Given the description of an element on the screen output the (x, y) to click on. 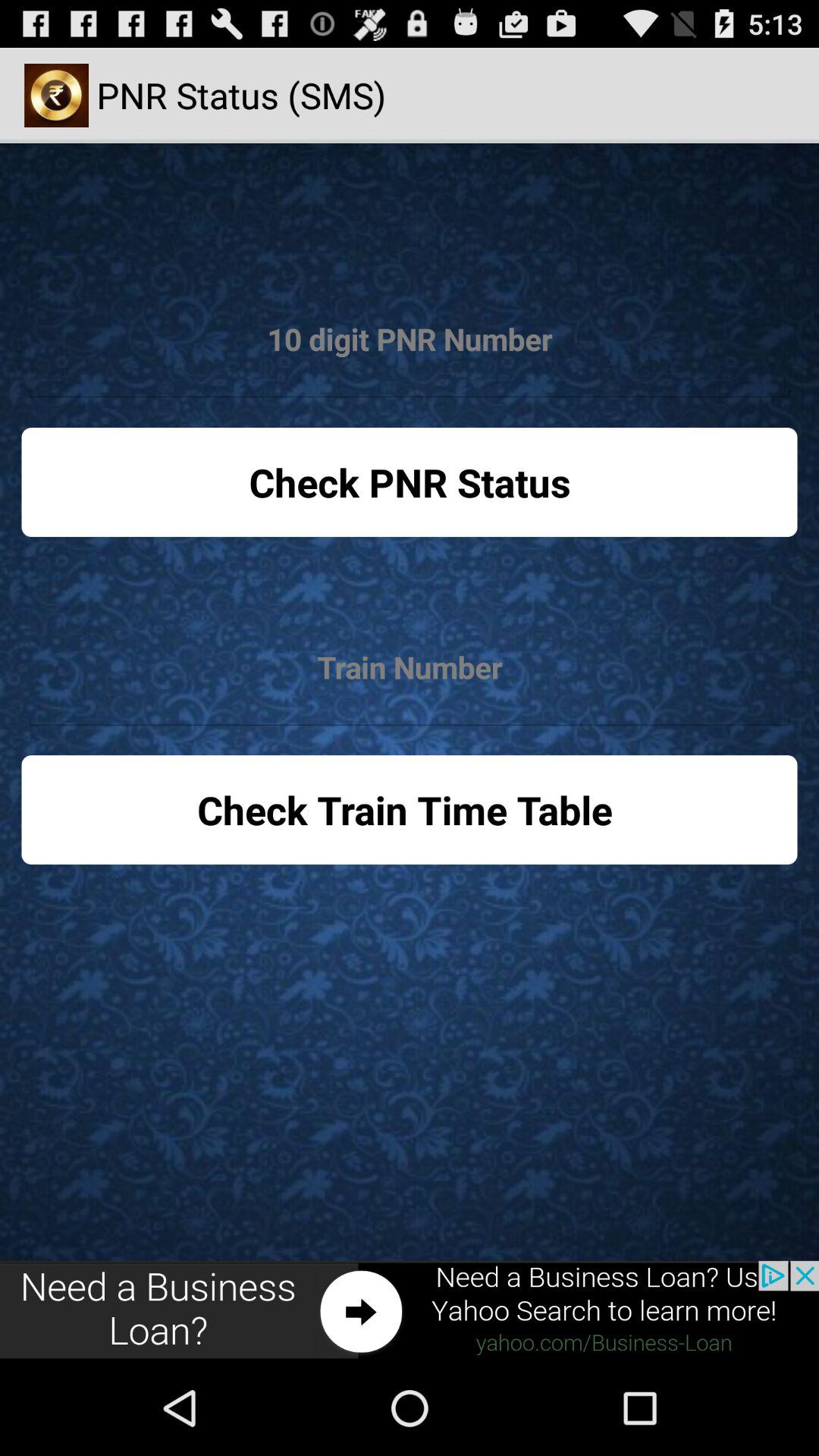
enter 10 digit pnr number (409, 339)
